Given the description of an element on the screen output the (x, y) to click on. 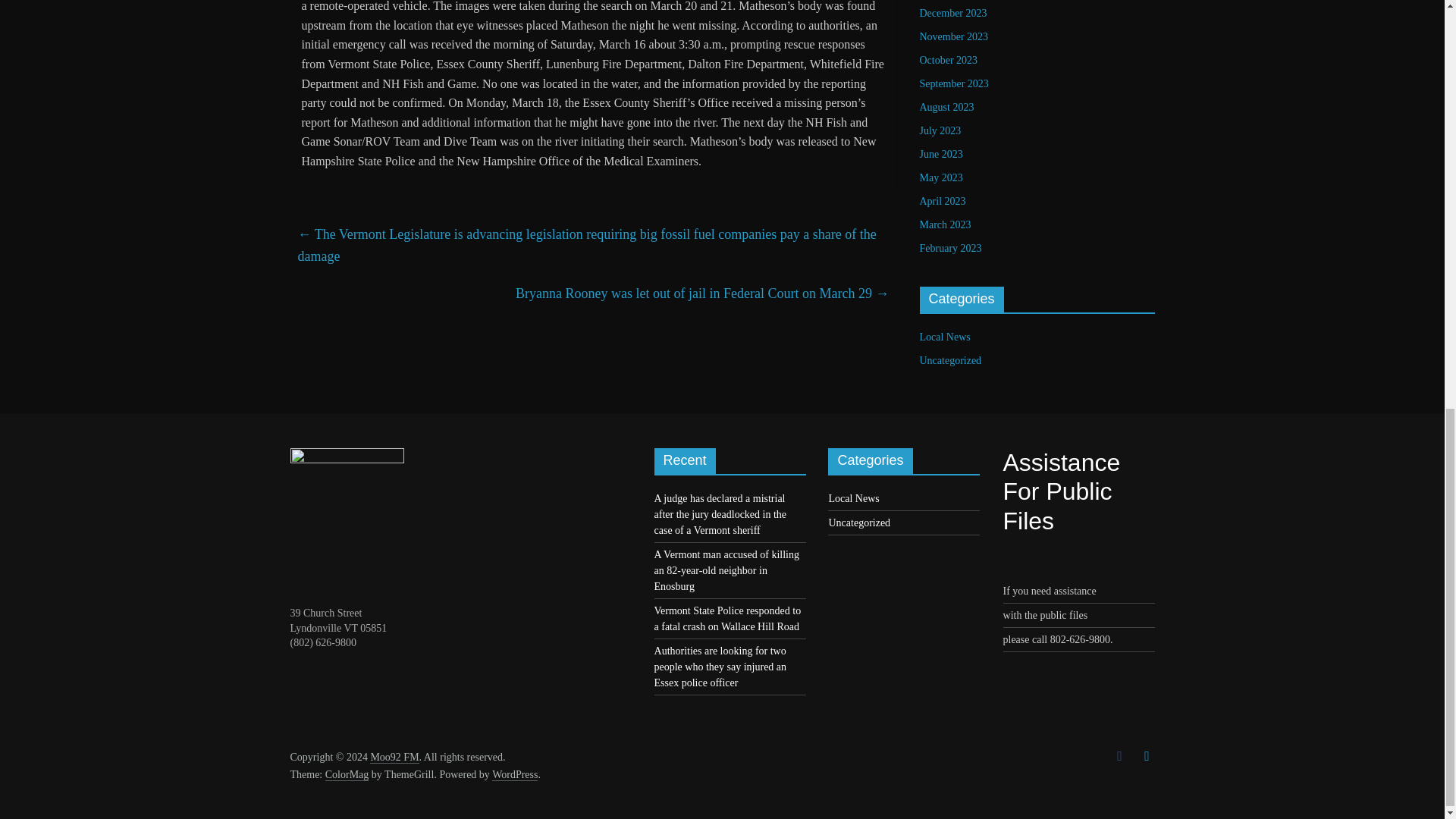
Moo92 FM (394, 757)
WordPress (514, 775)
ColorMag (346, 775)
